Given the description of an element on the screen output the (x, y) to click on. 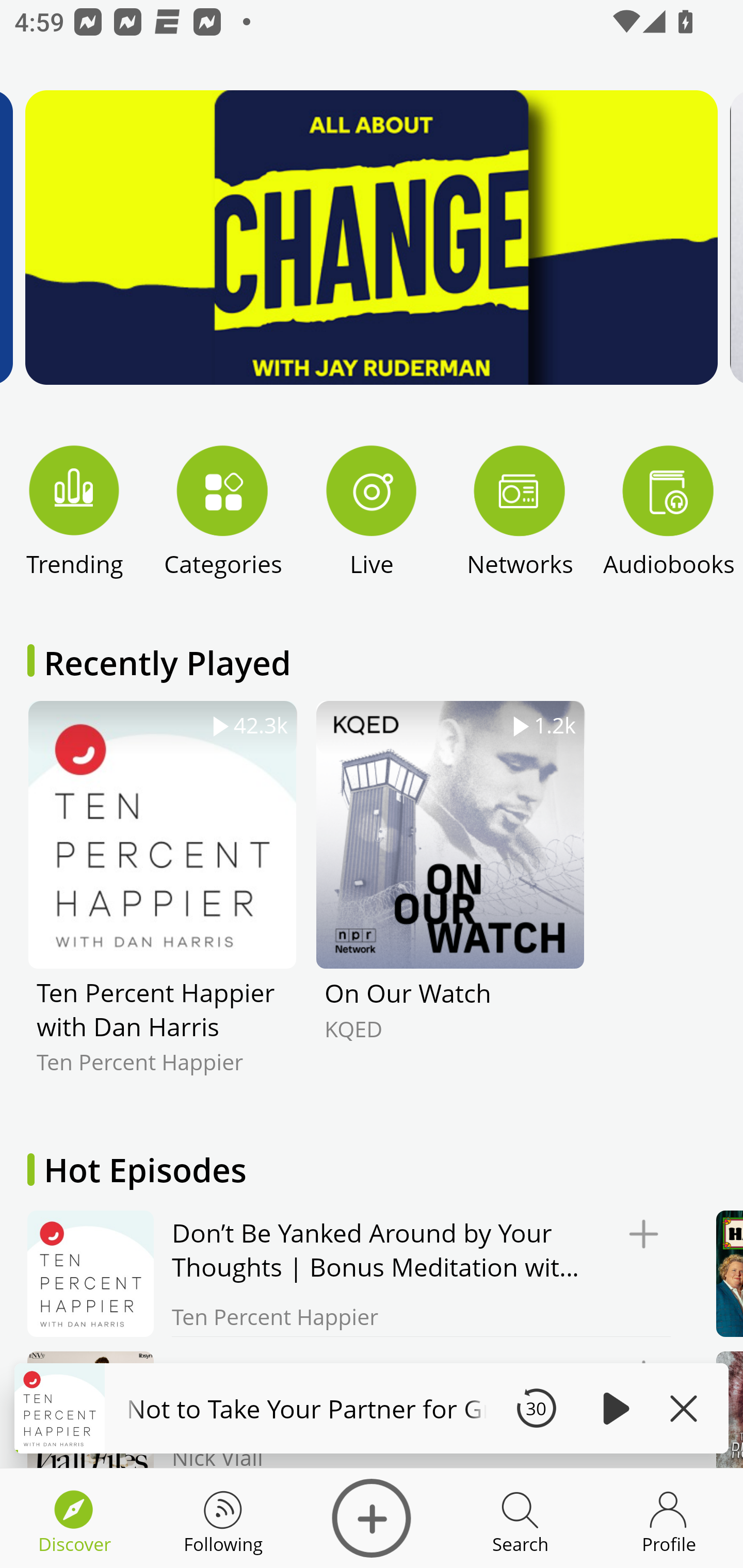
1.2k On Our Watch KQED (450, 902)
Play (613, 1407)
30 Seek Backward (536, 1407)
Discover Following (222, 1518)
Discover (371, 1518)
Discover Search (519, 1518)
Discover Profile (668, 1518)
